Given the description of an element on the screen output the (x, y) to click on. 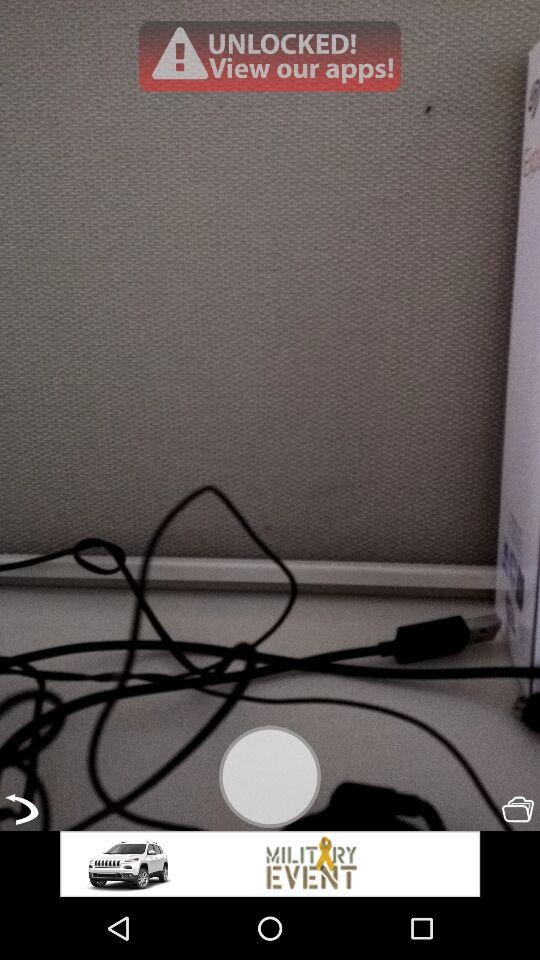
open files (518, 809)
